Given the description of an element on the screen output the (x, y) to click on. 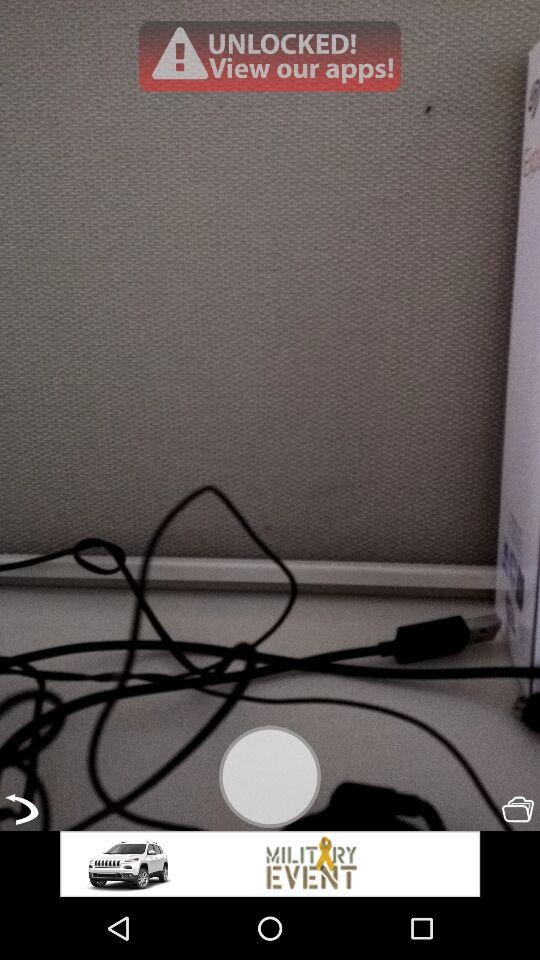
open files (518, 809)
